Given the description of an element on the screen output the (x, y) to click on. 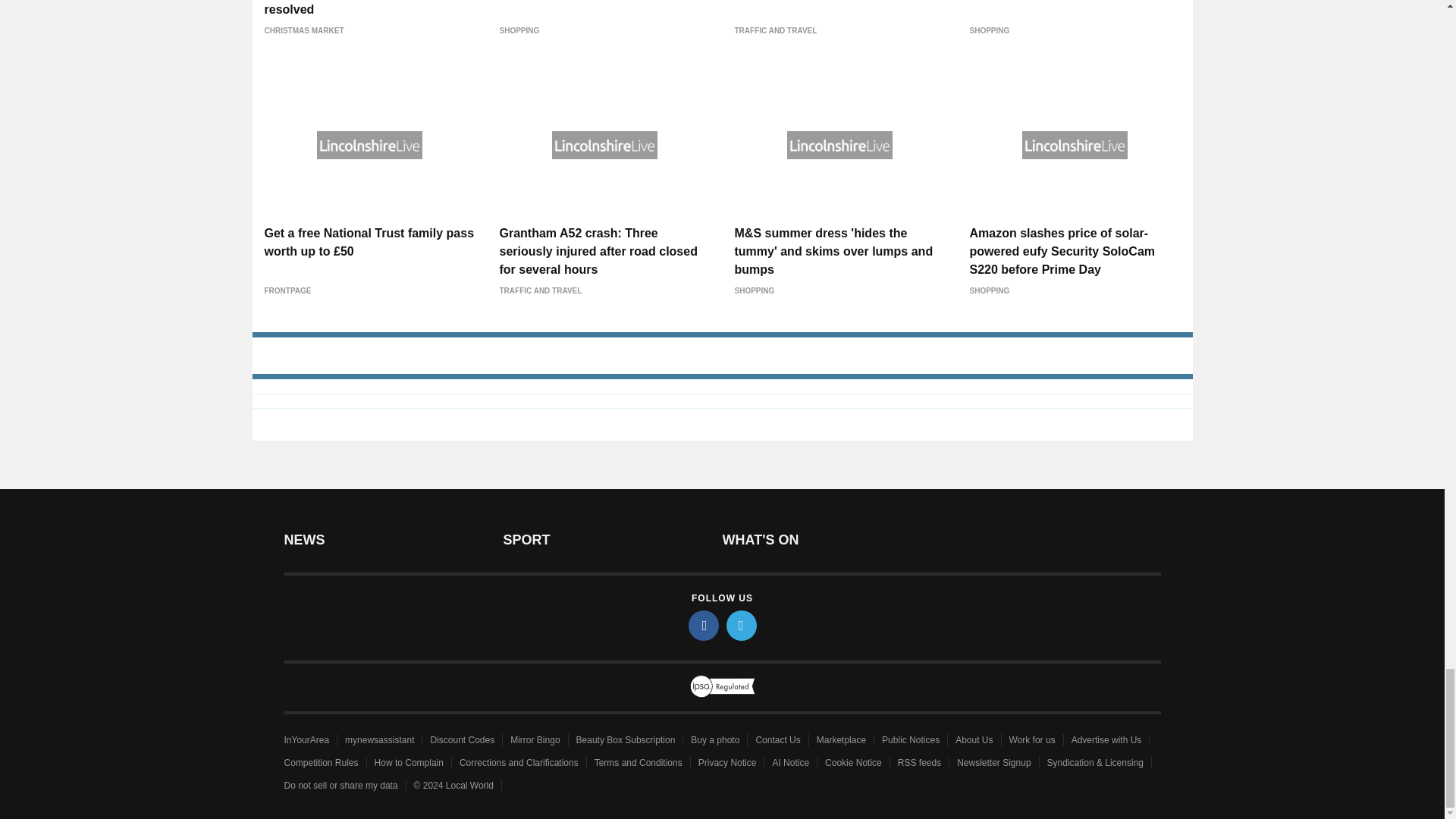
twitter (741, 625)
facebook (703, 625)
